Given the description of an element on the screen output the (x, y) to click on. 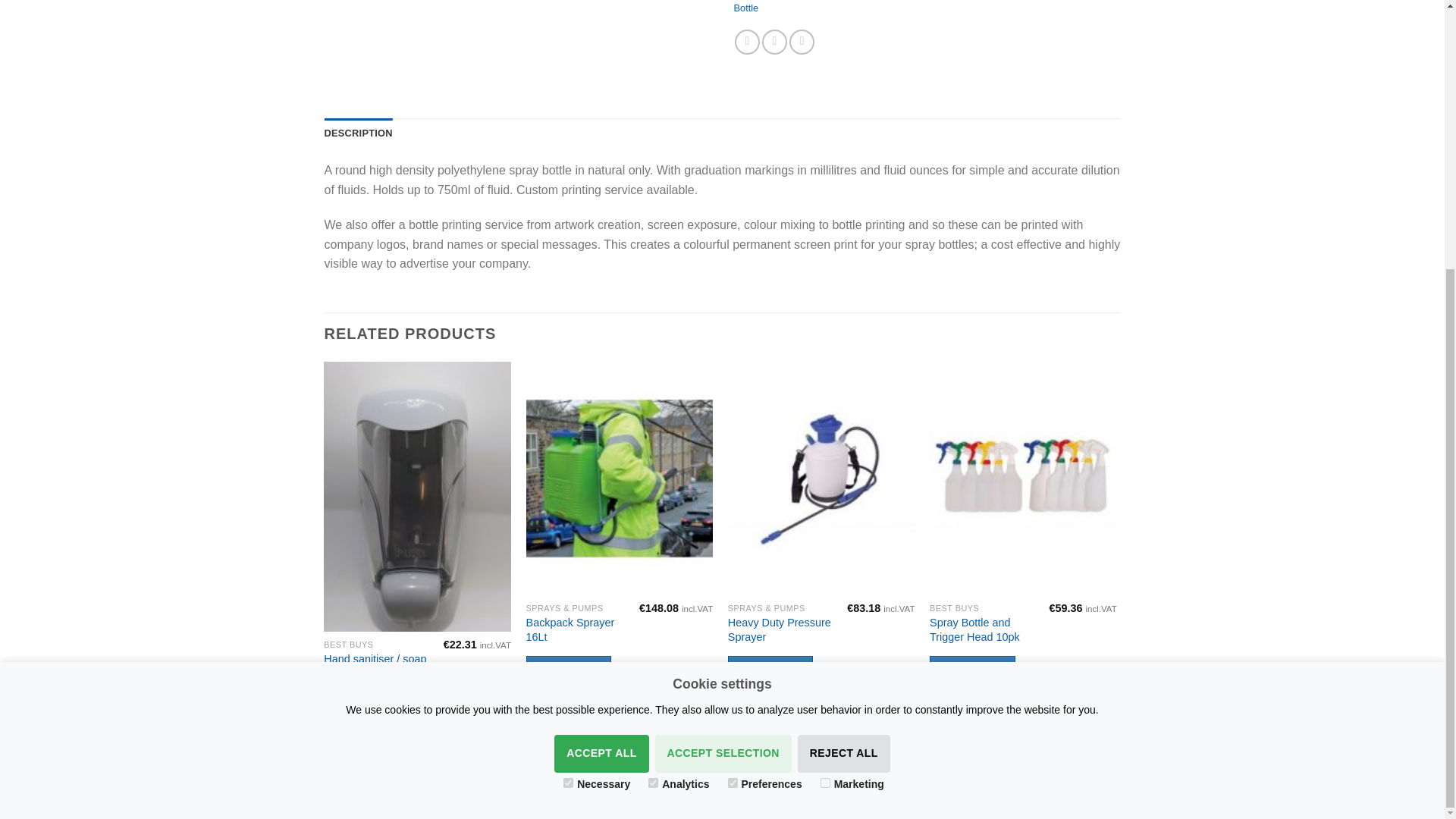
ECommerce websites in Ireland (625, 798)
Analytics (652, 390)
REJECT ALL (843, 361)
Email to a Friend (801, 41)
Share on Twitter (774, 41)
ACCEPT SELECTION (723, 361)
Necessary (568, 390)
Preferences (733, 390)
Marketing (825, 390)
ACCEPT ALL (600, 361)
